Given the description of an element on the screen output the (x, y) to click on. 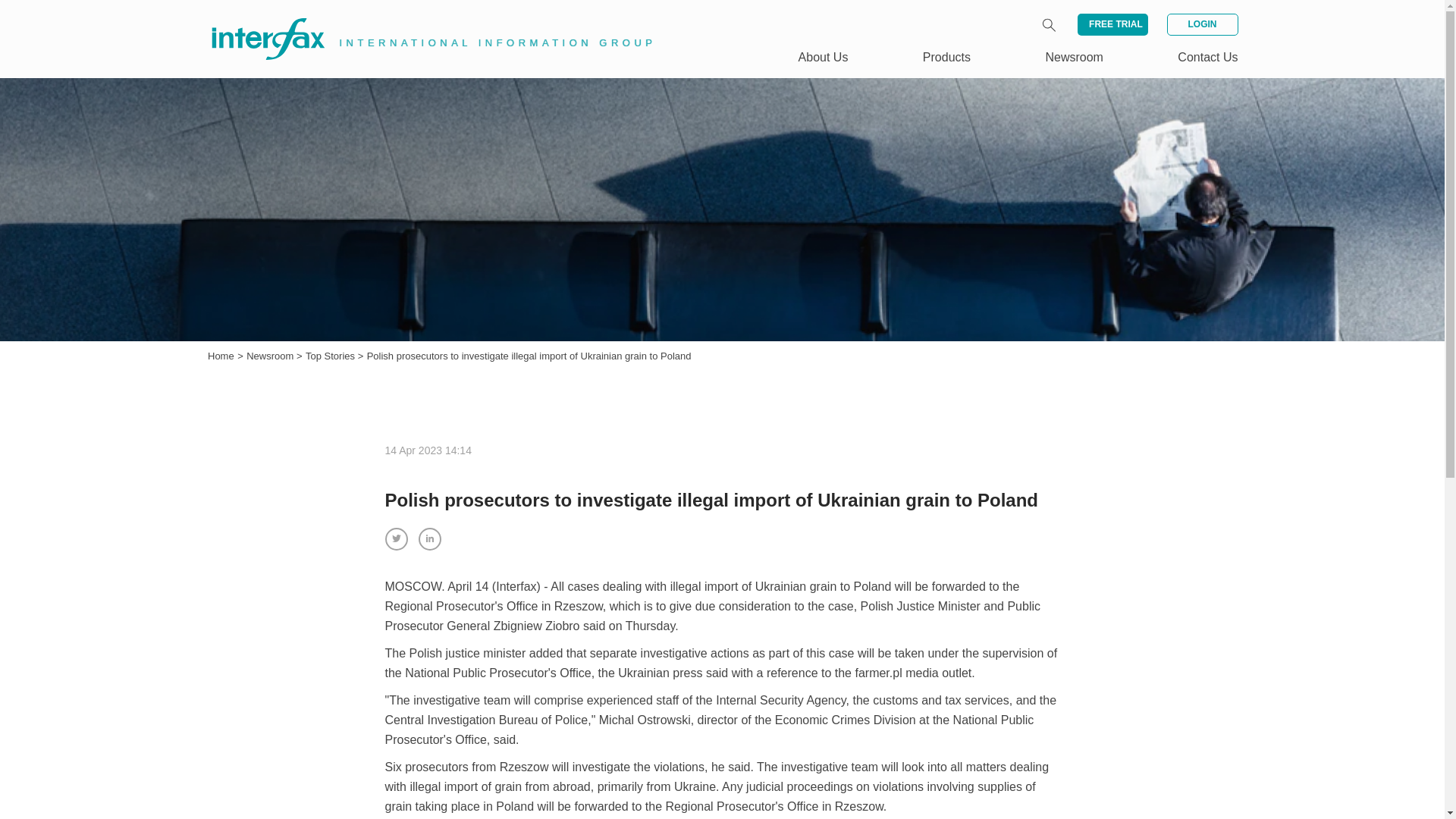
Newsroom (271, 355)
Newsroom (271, 355)
About Us (822, 56)
FREE TRIAL (1112, 24)
Top Stories (331, 355)
Home (221, 355)
LOGIN (1201, 24)
Contact Us (1207, 56)
INTERNATIONAL INFORMATION GROUP (421, 20)
Newsroom (1073, 56)
Products (947, 56)
Contact Us (1207, 56)
